Given the description of an element on the screen output the (x, y) to click on. 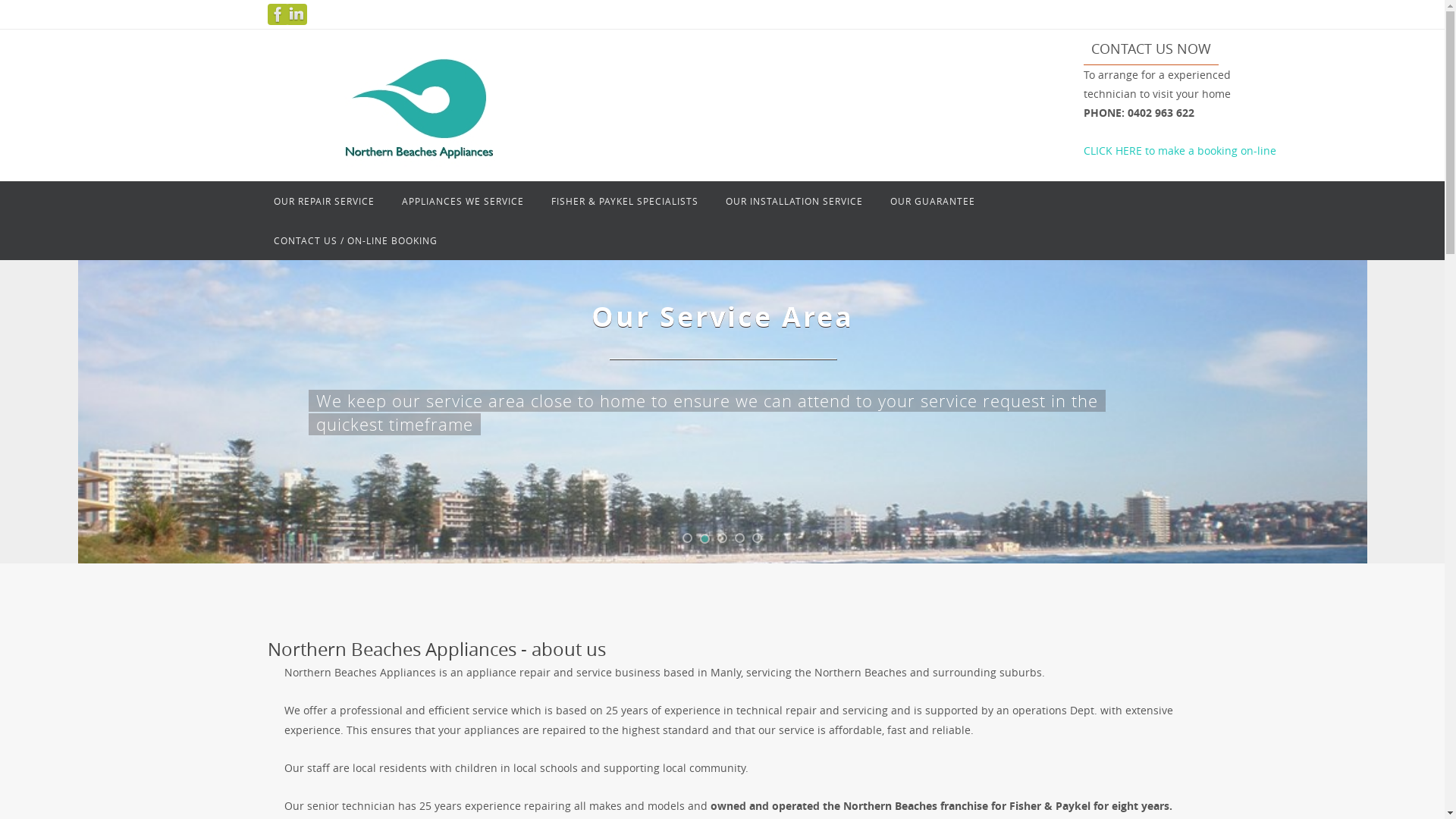
Our LinkedIn Page Element type: hover (295, 14)
FISHER & PAYKEL SPECIALISTS Element type: text (623, 200)
APPLIANCES WE SERVICE Element type: text (462, 200)
OUR GUARANTEE Element type: text (932, 200)
OUR INSTALLATION SERVICE Element type: text (793, 200)
5 Element type: text (757, 537)
1 Element type: text (687, 538)
Our Facebook Page Element type: hover (277, 14)
CLICK HERE to make a booking on-line Element type: text (1179, 150)
4 Element type: text (739, 537)
Our LinkedIn Page Element type: hover (1429, 359)
CONTACT US / ON-LINE BOOKING Element type: text (354, 240)
2 Element type: text (704, 537)
Our Facebook Page Element type: hover (1429, 339)
OUR REPAIR SERVICE Element type: text (323, 200)
3 Element type: text (722, 537)
